Given the description of an element on the screen output the (x, y) to click on. 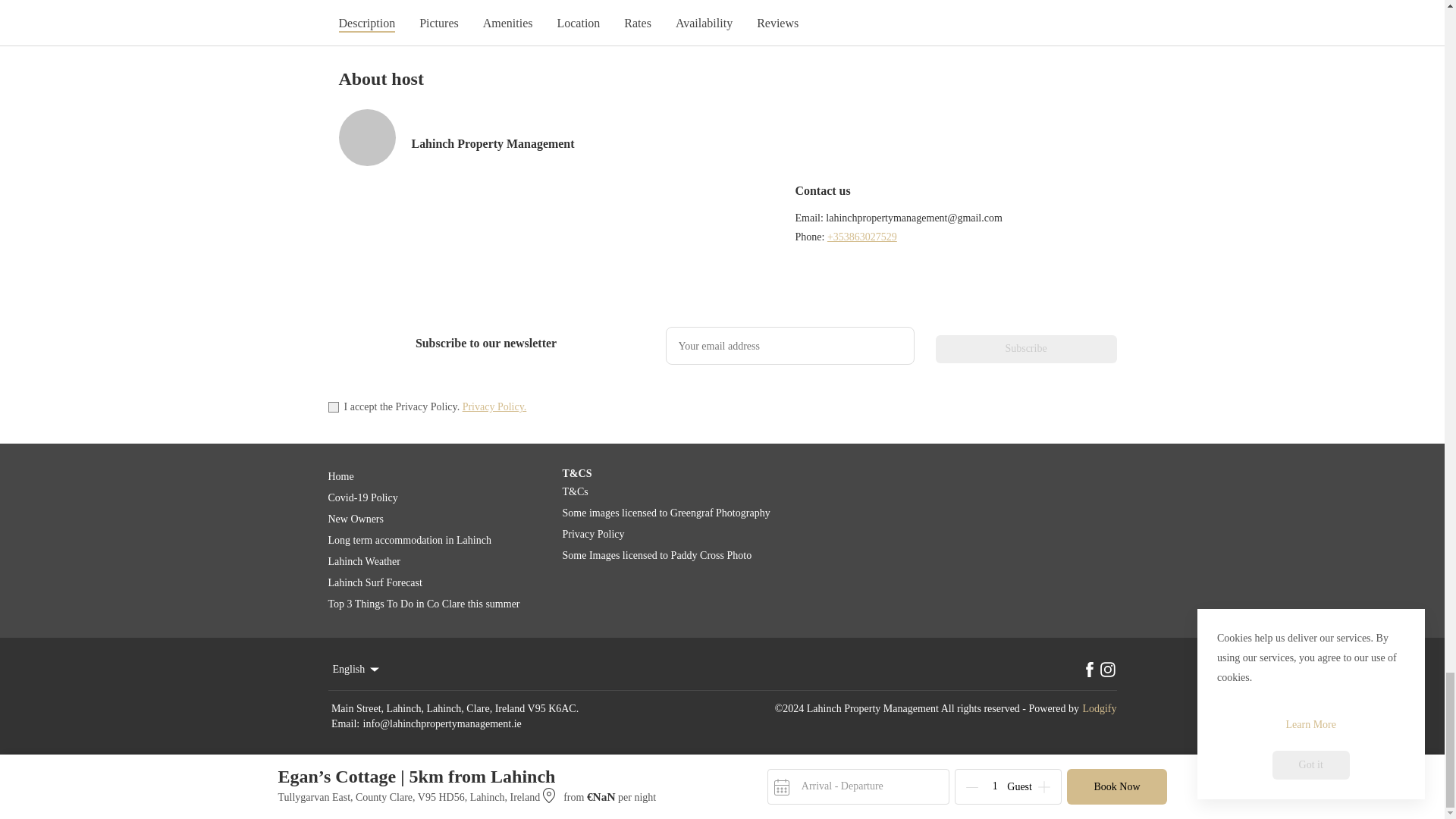
New Owners (436, 518)
Privacy Policy. (495, 406)
Covid-19 Policy (436, 497)
Facebook (1088, 669)
on (332, 407)
Home (436, 476)
Subscribe (1026, 348)
Long term accommodation in Lahinch (436, 540)
Instagram (1106, 669)
